Given the description of an element on the screen output the (x, y) to click on. 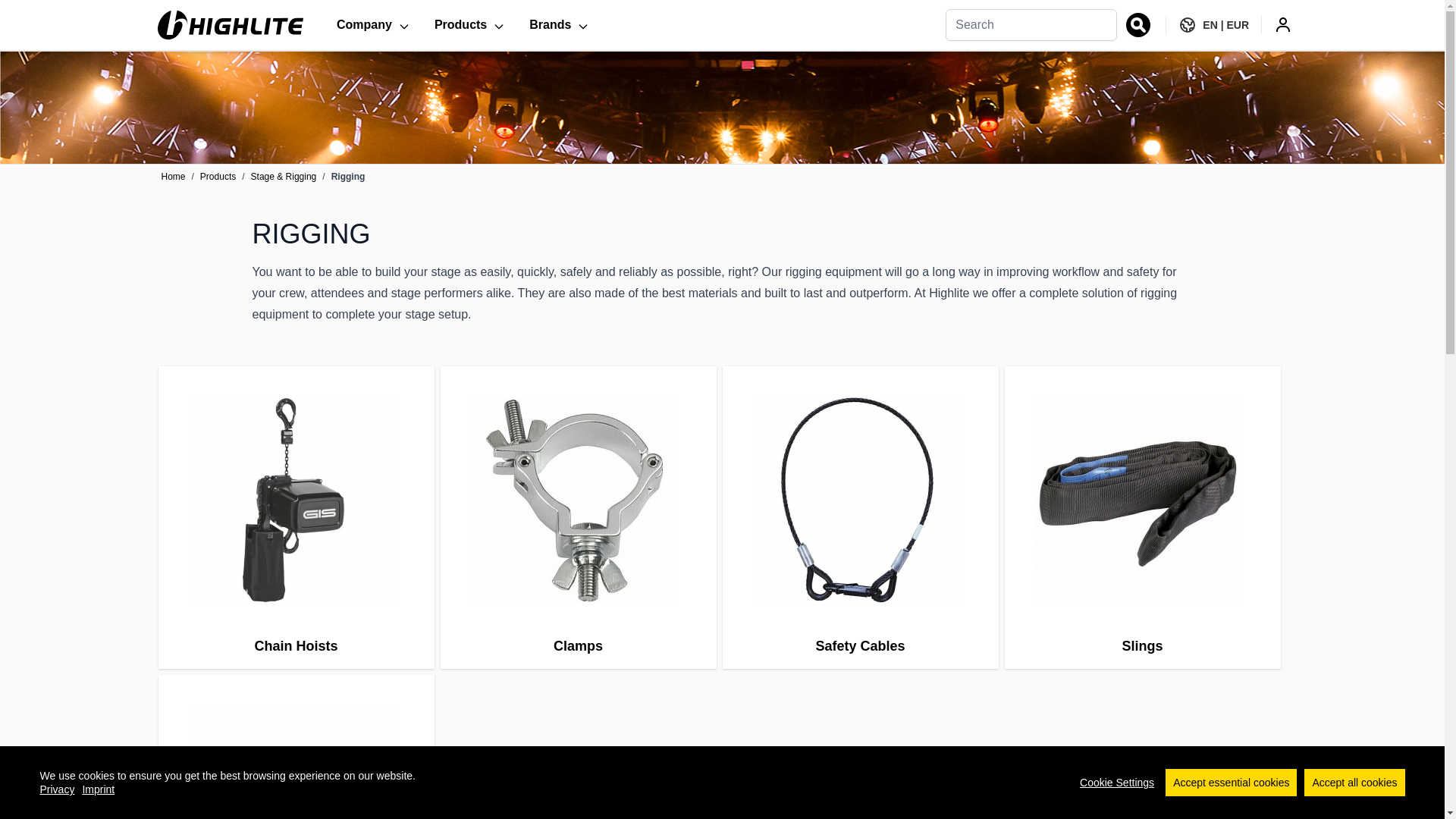
Products (469, 24)
Products (469, 24)
Company (373, 24)
Brands (558, 24)
Company (373, 24)
Brands (558, 24)
